Given the description of an element on the screen output the (x, y) to click on. 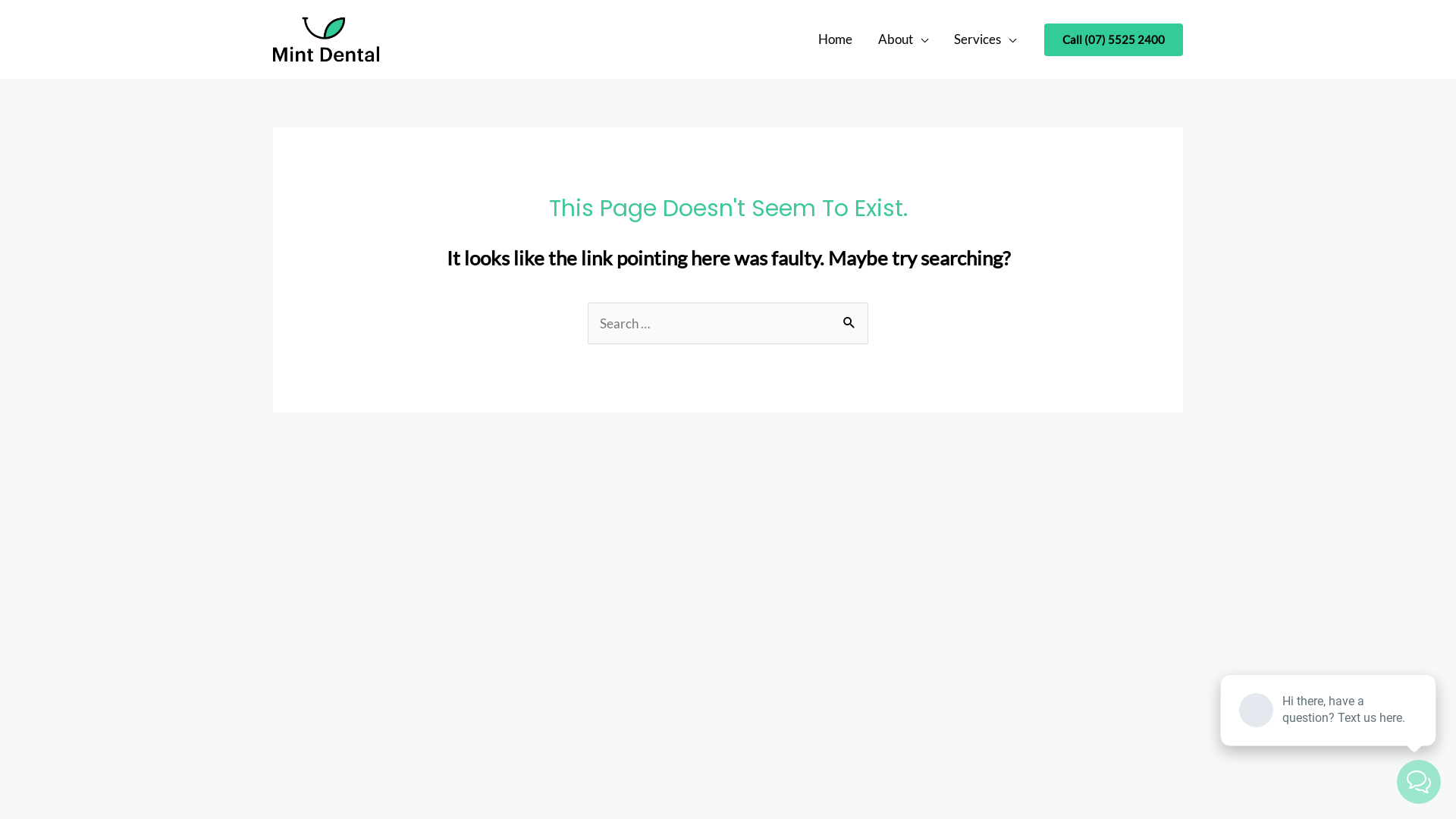
Search Element type: text (851, 317)
Services Element type: text (985, 38)
Home Element type: text (835, 38)
Call (07) 5525 2400 Element type: text (1113, 38)
About Element type: text (903, 38)
